Given the description of an element on the screen output the (x, y) to click on. 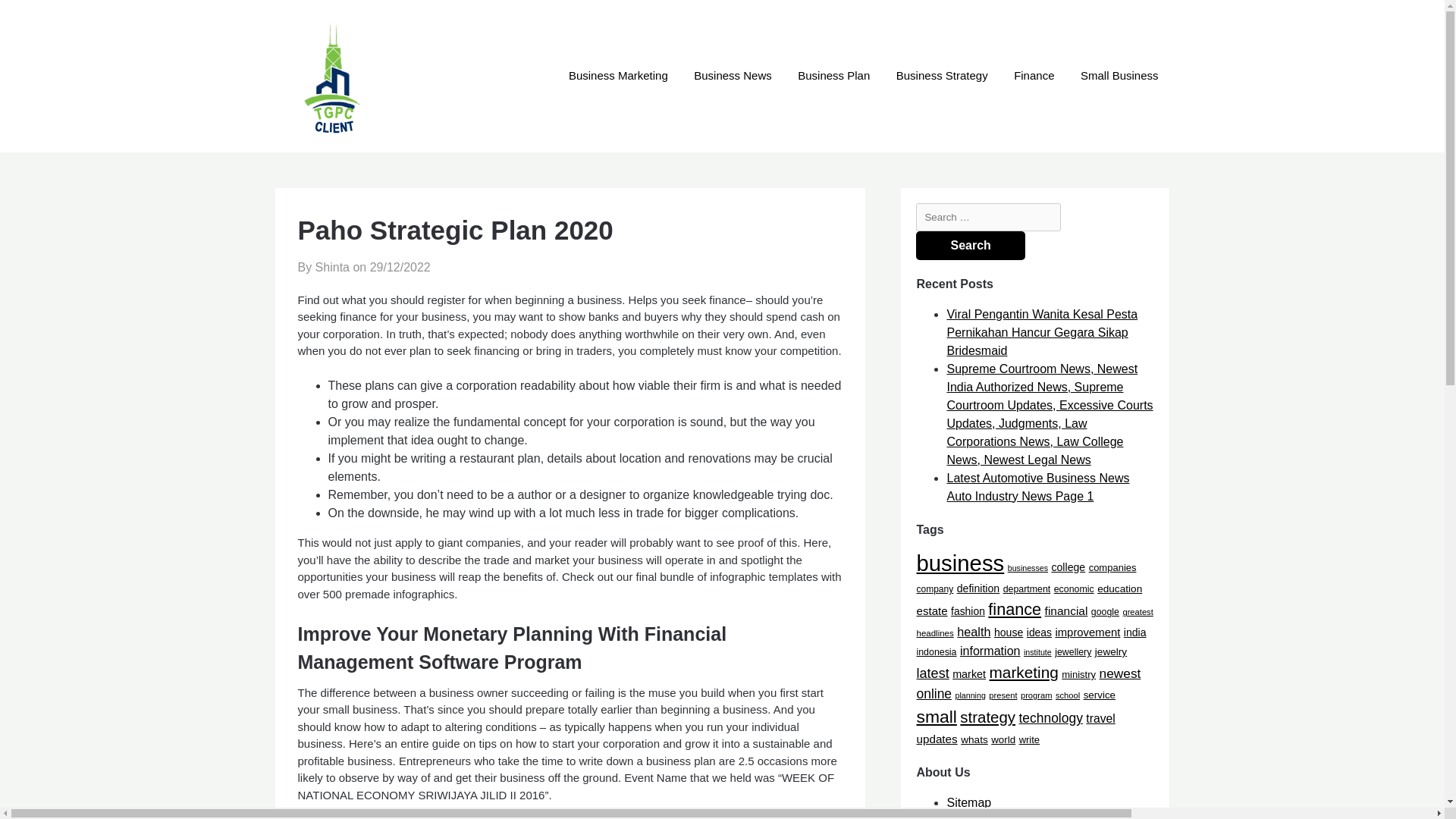
Search (970, 245)
Search (970, 245)
estate (931, 610)
company (934, 588)
Search (970, 245)
companies (1113, 566)
business (959, 562)
economic (1074, 588)
businesses (1027, 566)
